Given the description of an element on the screen output the (x, y) to click on. 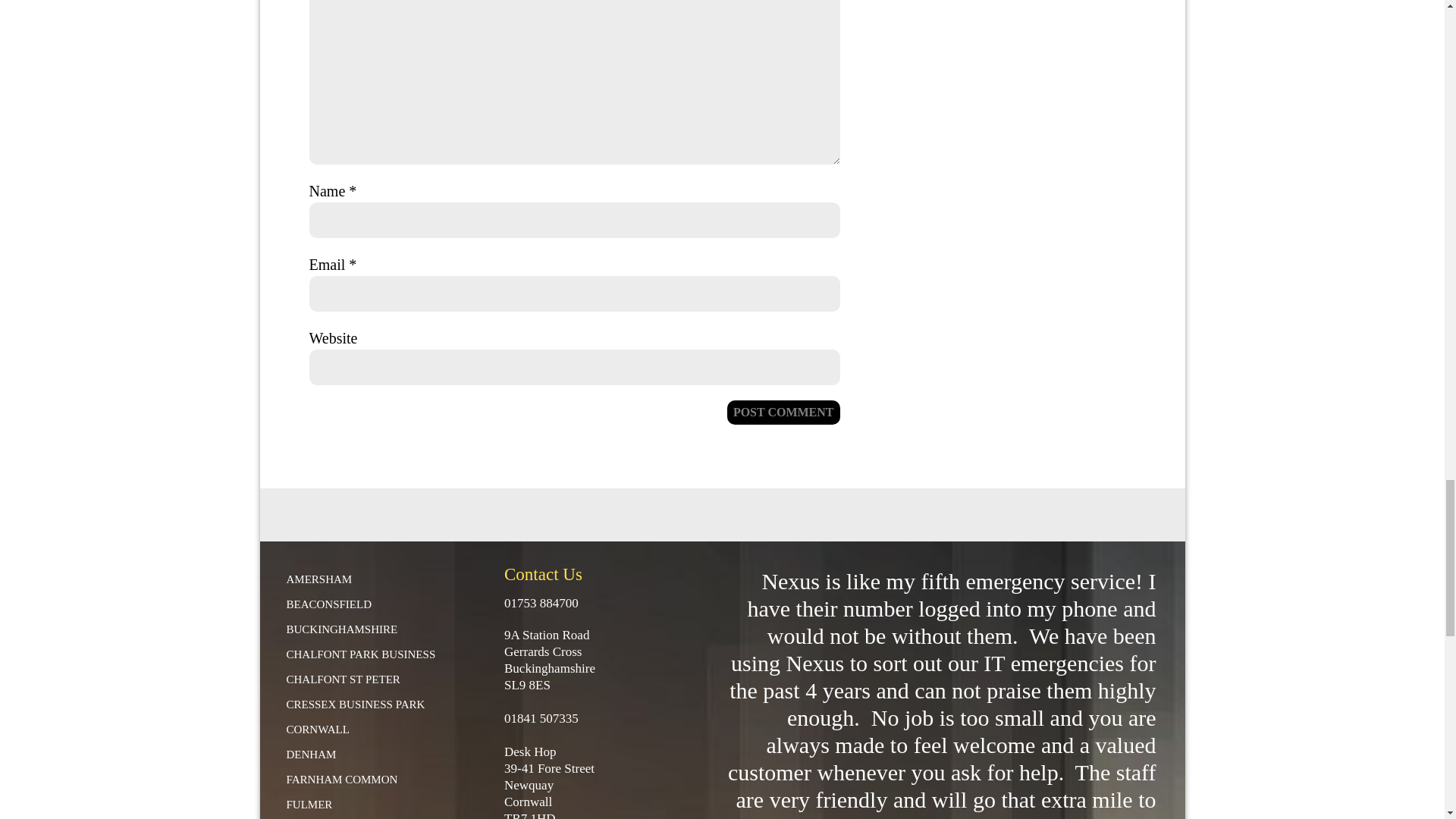
Post Comment (783, 412)
